Given the description of an element on the screen output the (x, y) to click on. 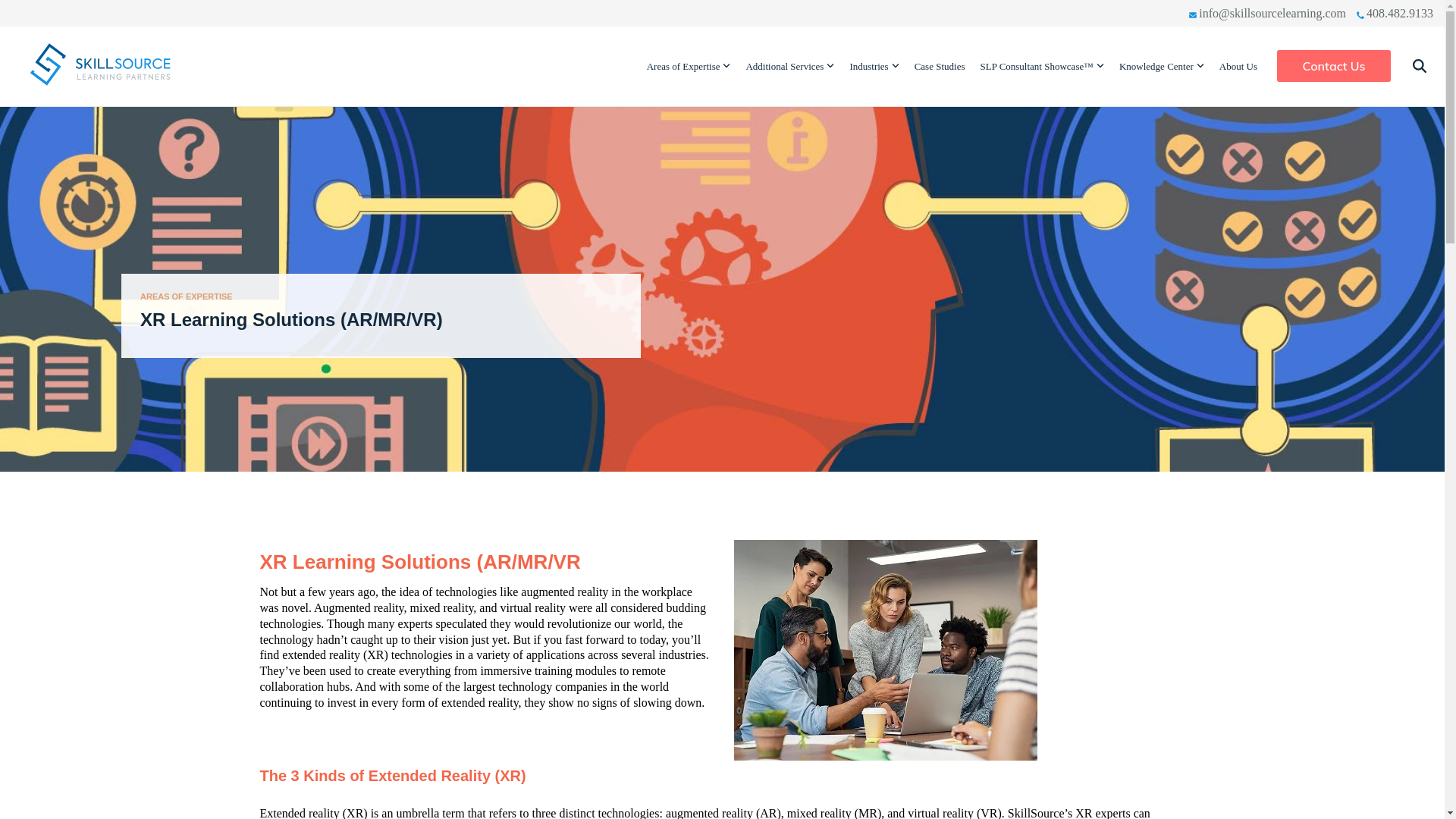
Knowledge Center (1161, 65)
Industries (873, 65)
Case Studies (939, 65)
Areas of Expertise (688, 65)
SkillSource Learning Partners (102, 65)
Additional Services (789, 65)
408.482.9133 (1394, 13)
